Given the description of an element on the screen output the (x, y) to click on. 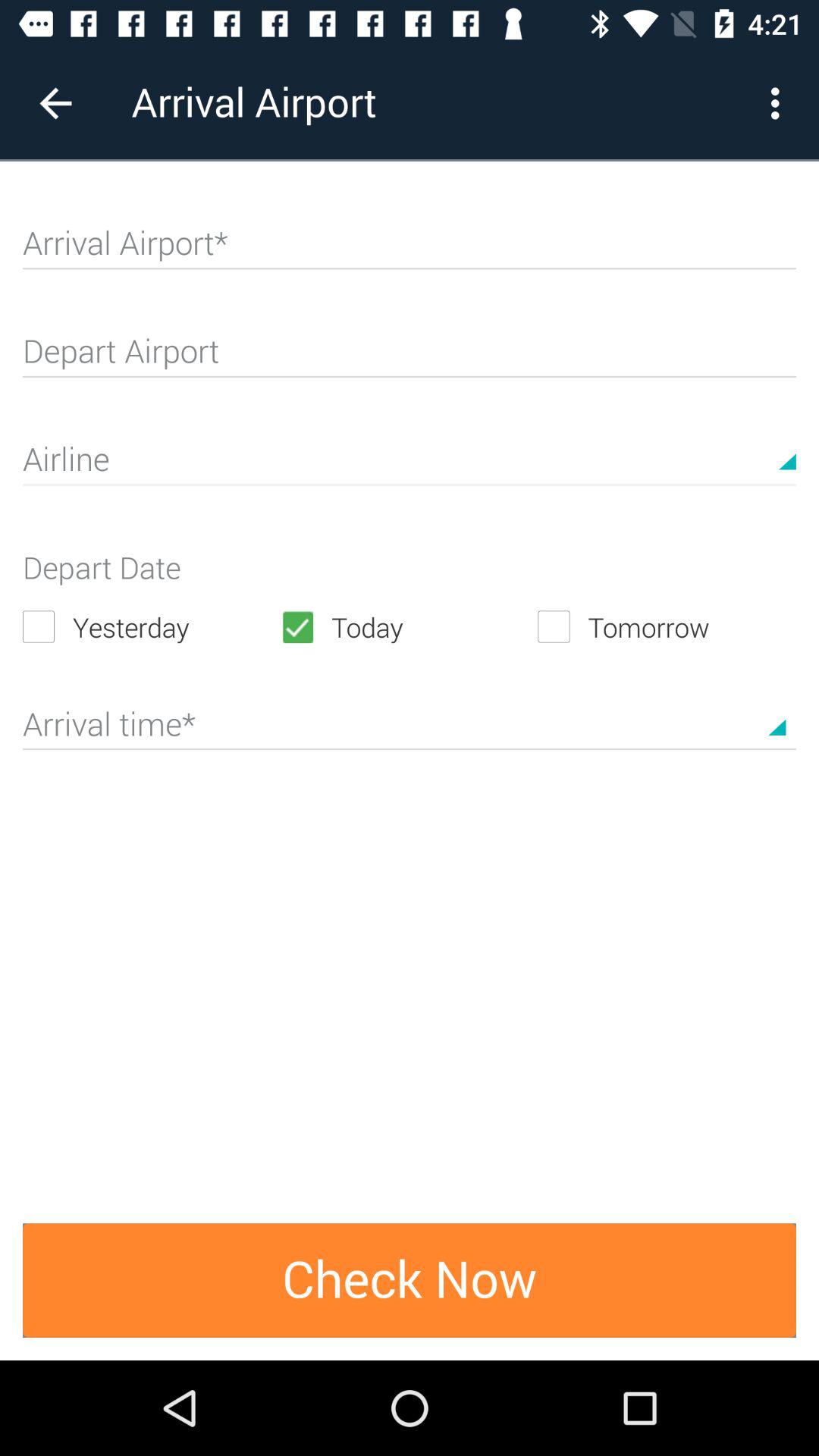
choose the icon next to the today (667, 626)
